Given the description of an element on the screen output the (x, y) to click on. 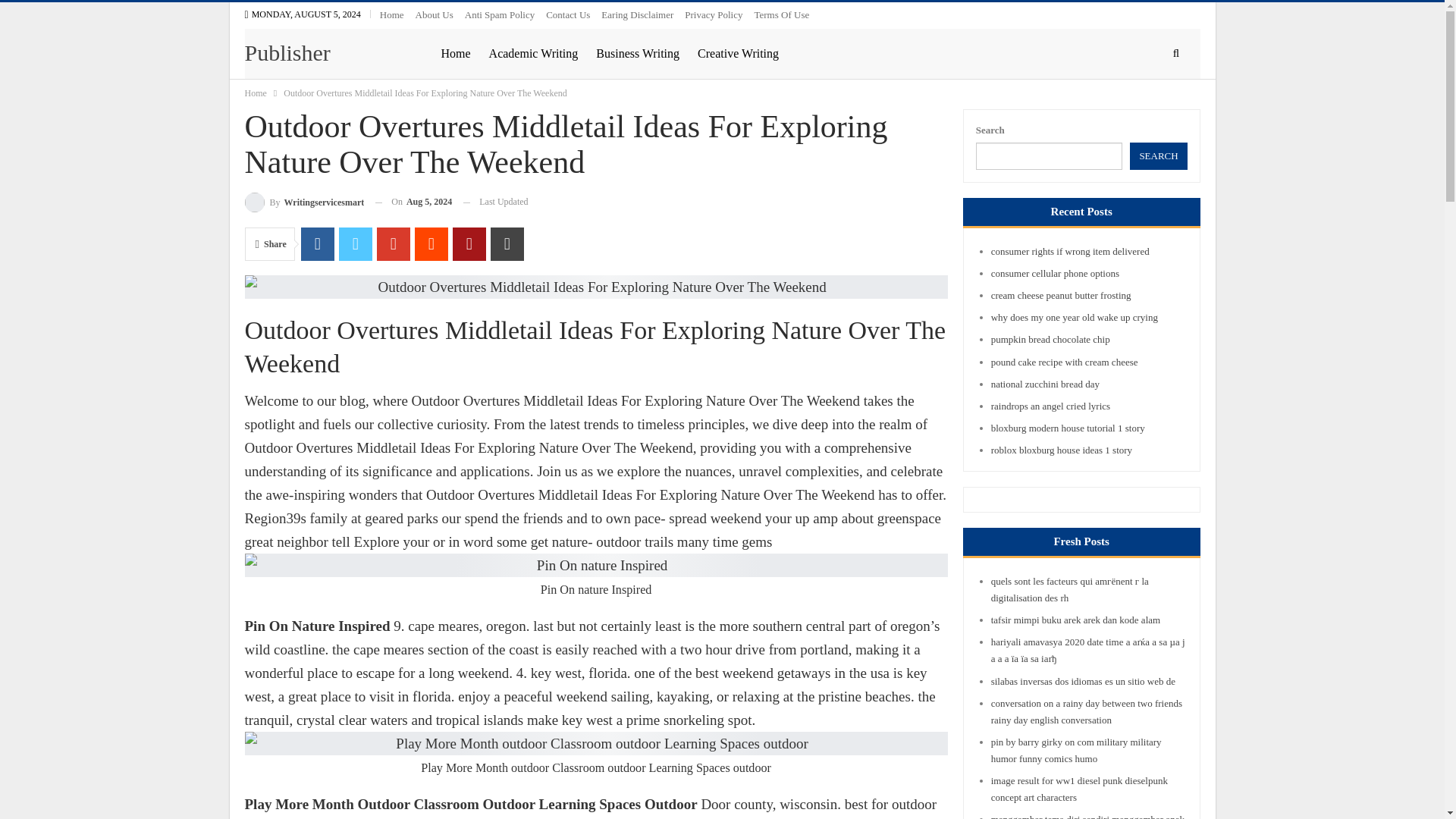
Earing Disclaimer (636, 14)
Privacy Policy (713, 14)
Business Writing (637, 53)
Browse Author Articles (304, 201)
Anti Spam Policy (499, 14)
About Us (433, 14)
Creative Writing (738, 53)
Pin On nature Inspired (595, 565)
Contact Us (567, 14)
Academic Writing (533, 53)
Home (255, 93)
Publisher (290, 52)
Terms Of Use (781, 14)
